Given the description of an element on the screen output the (x, y) to click on. 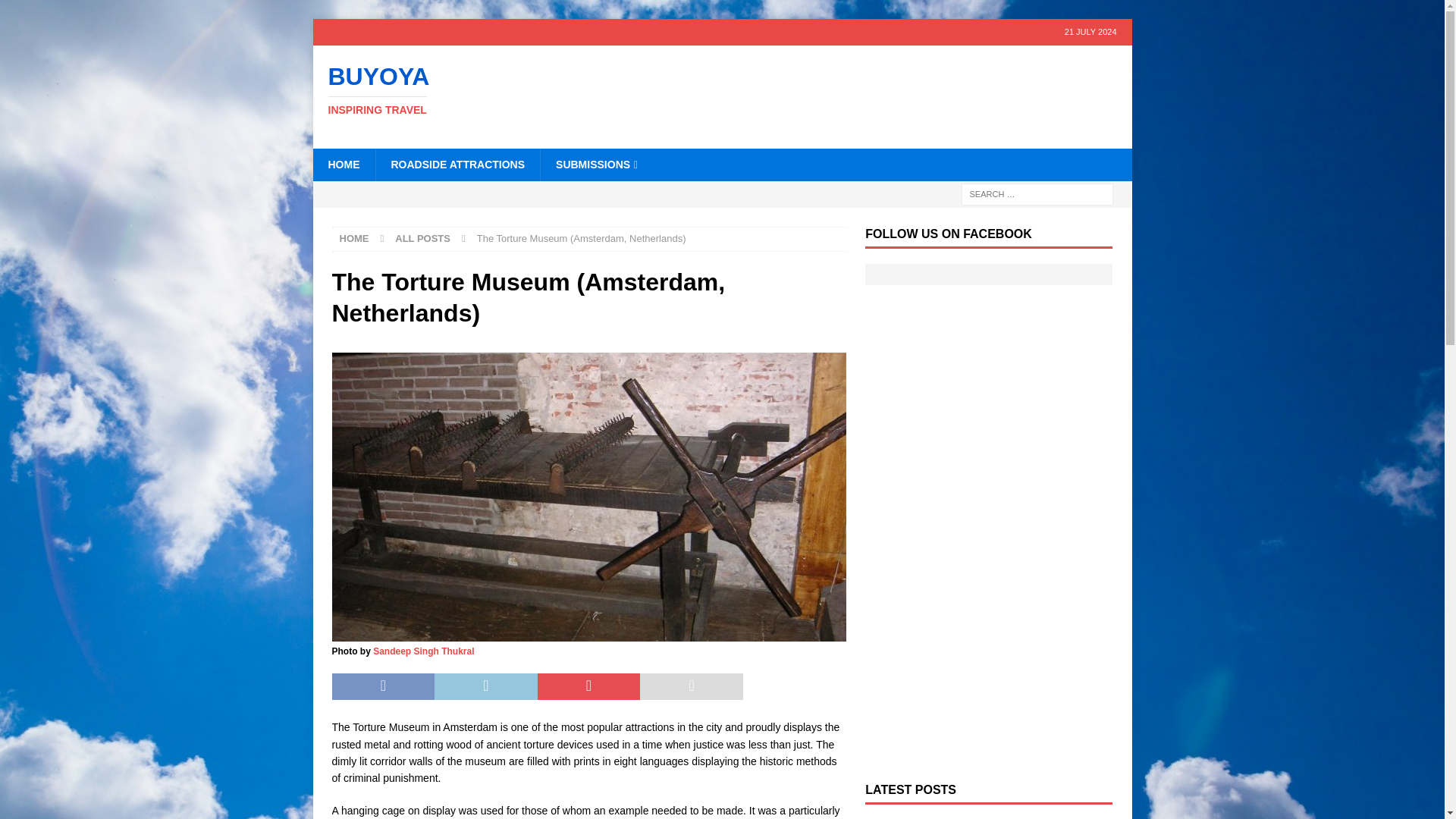
SUBMISSIONS (596, 164)
Search (56, 11)
ROADSIDE ATTRACTIONS (457, 164)
HOME (354, 238)
HOME (343, 164)
Advertisement (868, 94)
ALL POSTS (421, 238)
Sandeep Singh Thukral (423, 651)
Buyoya (441, 90)
